Given the description of an element on the screen output the (x, y) to click on. 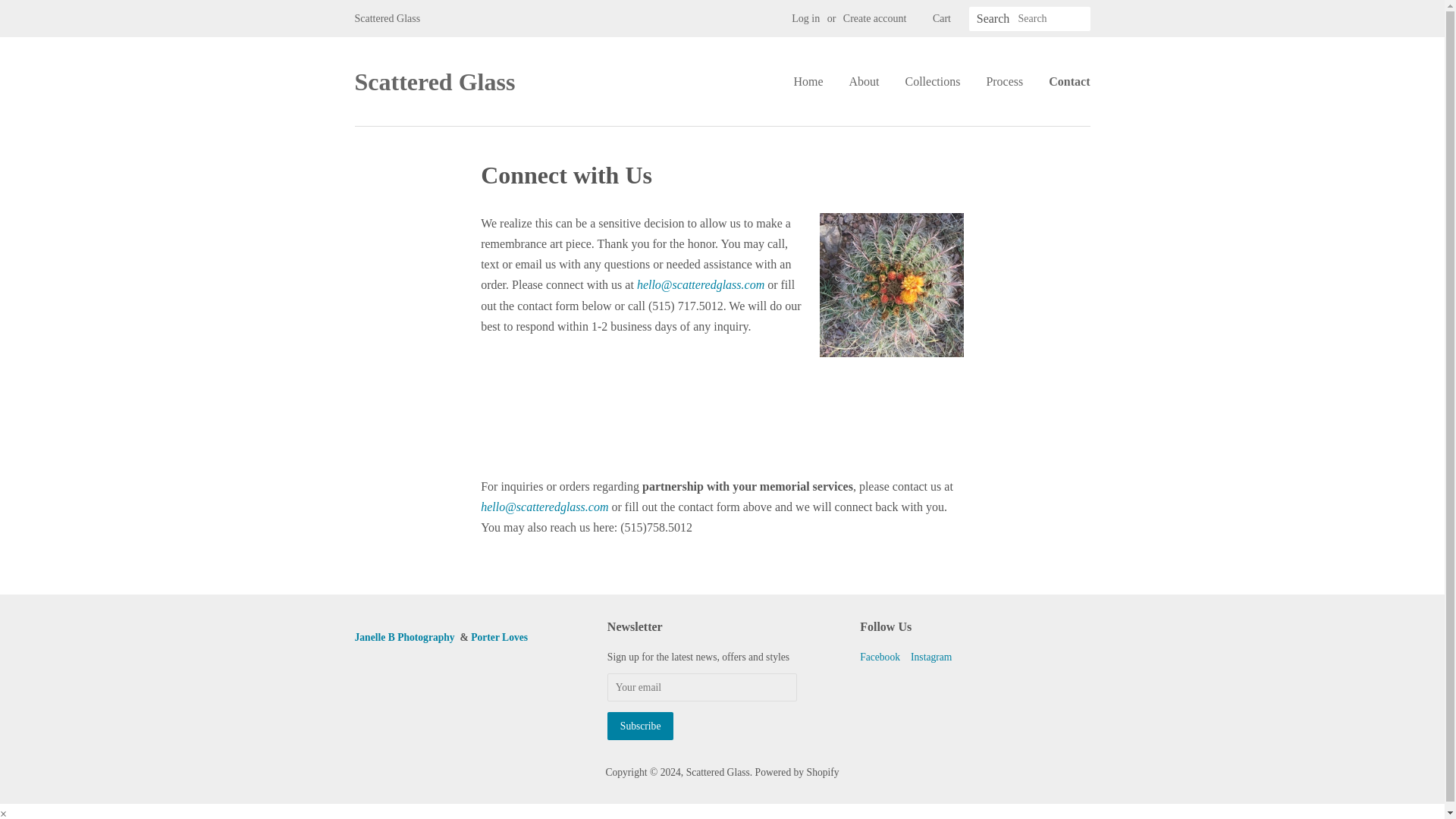
Create account (875, 18)
About (863, 81)
Scattered Glass (435, 81)
Search (993, 18)
Scattered Glass on Facebook (879, 656)
Collections (932, 81)
Scattered Glass contact (700, 284)
Contact Scattered Glass (544, 506)
Home (813, 81)
Log in (805, 18)
Scattered Glass on Instagram (931, 656)
Cart (941, 18)
Subscribe (640, 725)
